Given the description of an element on the screen output the (x, y) to click on. 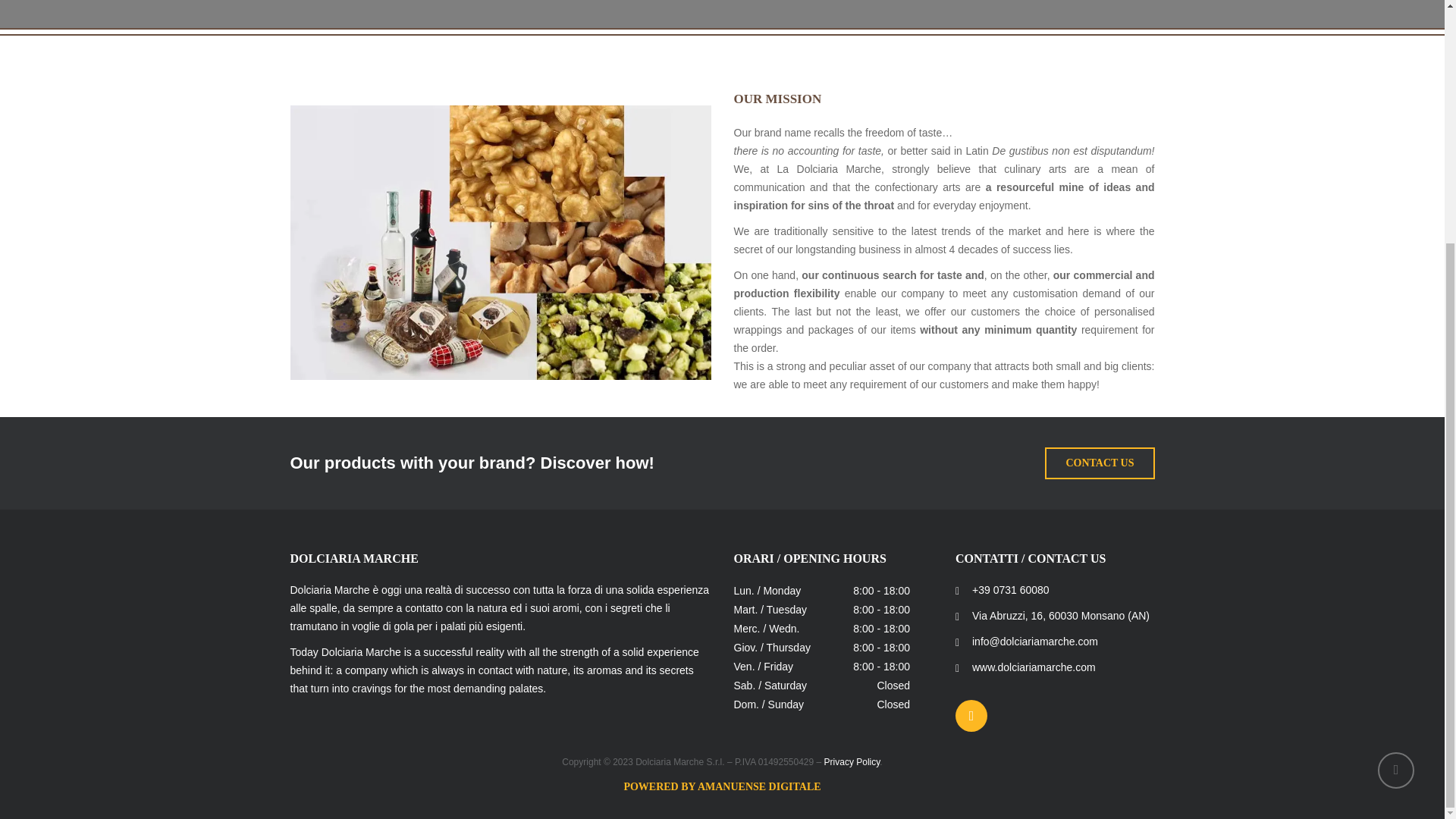
POWERED BY AMANUENSE DIGITALE (722, 786)
Privacy Policy (852, 761)
powered by Amanuense Digitale (722, 786)
CONTACT US (1099, 463)
